Given the description of an element on the screen output the (x, y) to click on. 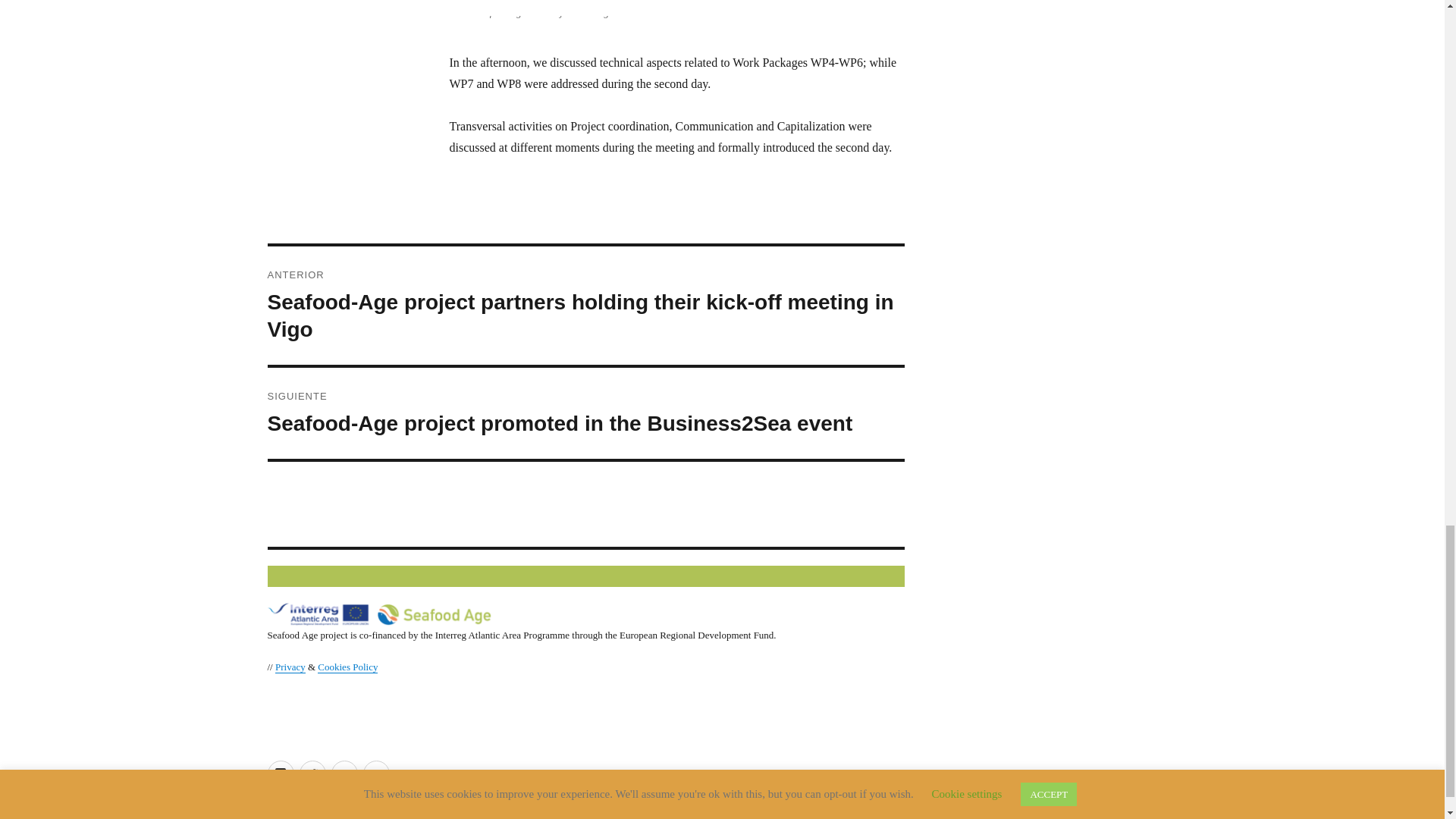
Privacy (290, 666)
Cookies Policy (347, 666)
